Given the description of an element on the screen output the (x, y) to click on. 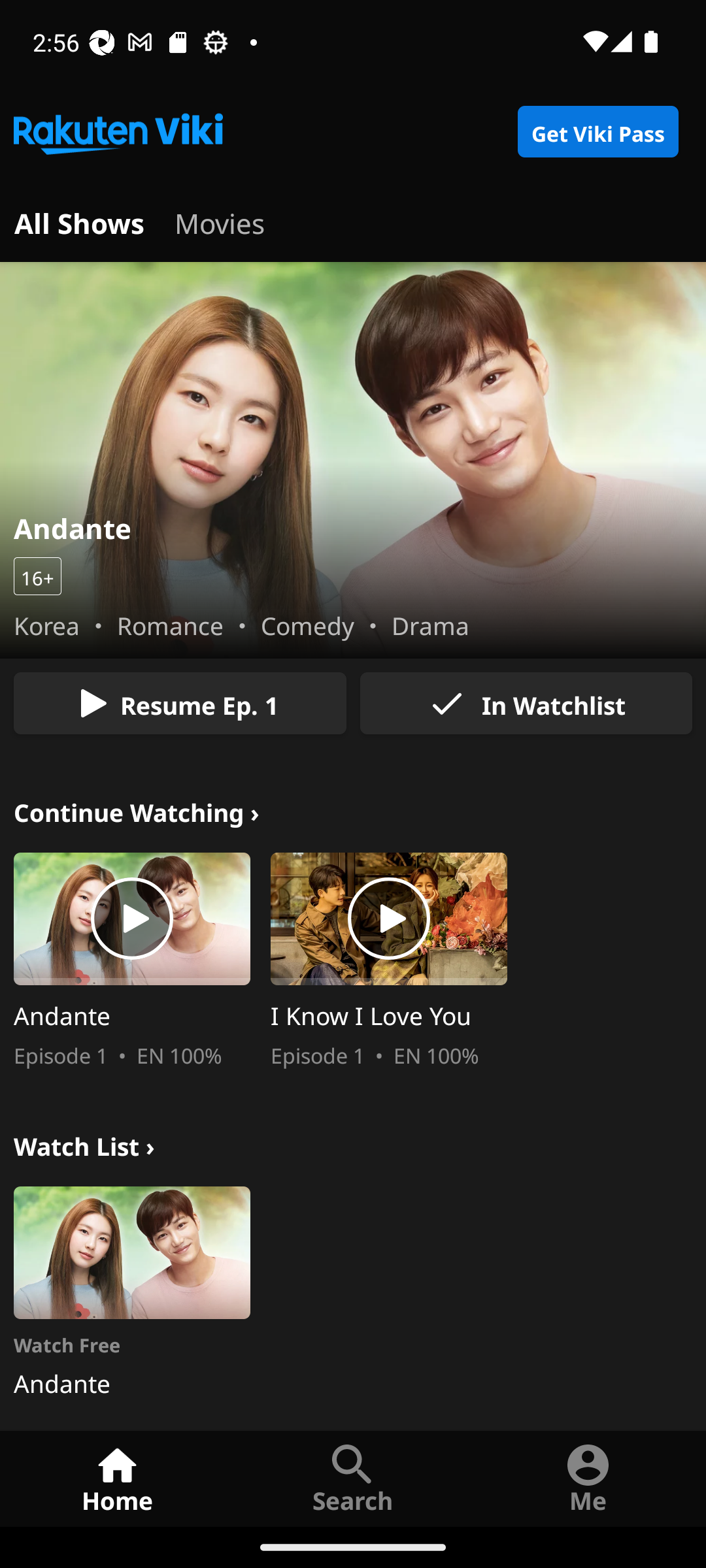
Get Viki Pass (597, 131)
home_tab_movies Movies (219, 220)
Resume Ep. 1 home_billboard_play_button (179, 702)
In Watchlist home_billboard_in_watchlist_button (526, 702)
Continue Watching › continue_watching (136, 809)
Watch List › watch_list (84, 1143)
Search (352, 1478)
Me (588, 1478)
